Given the description of an element on the screen output the (x, y) to click on. 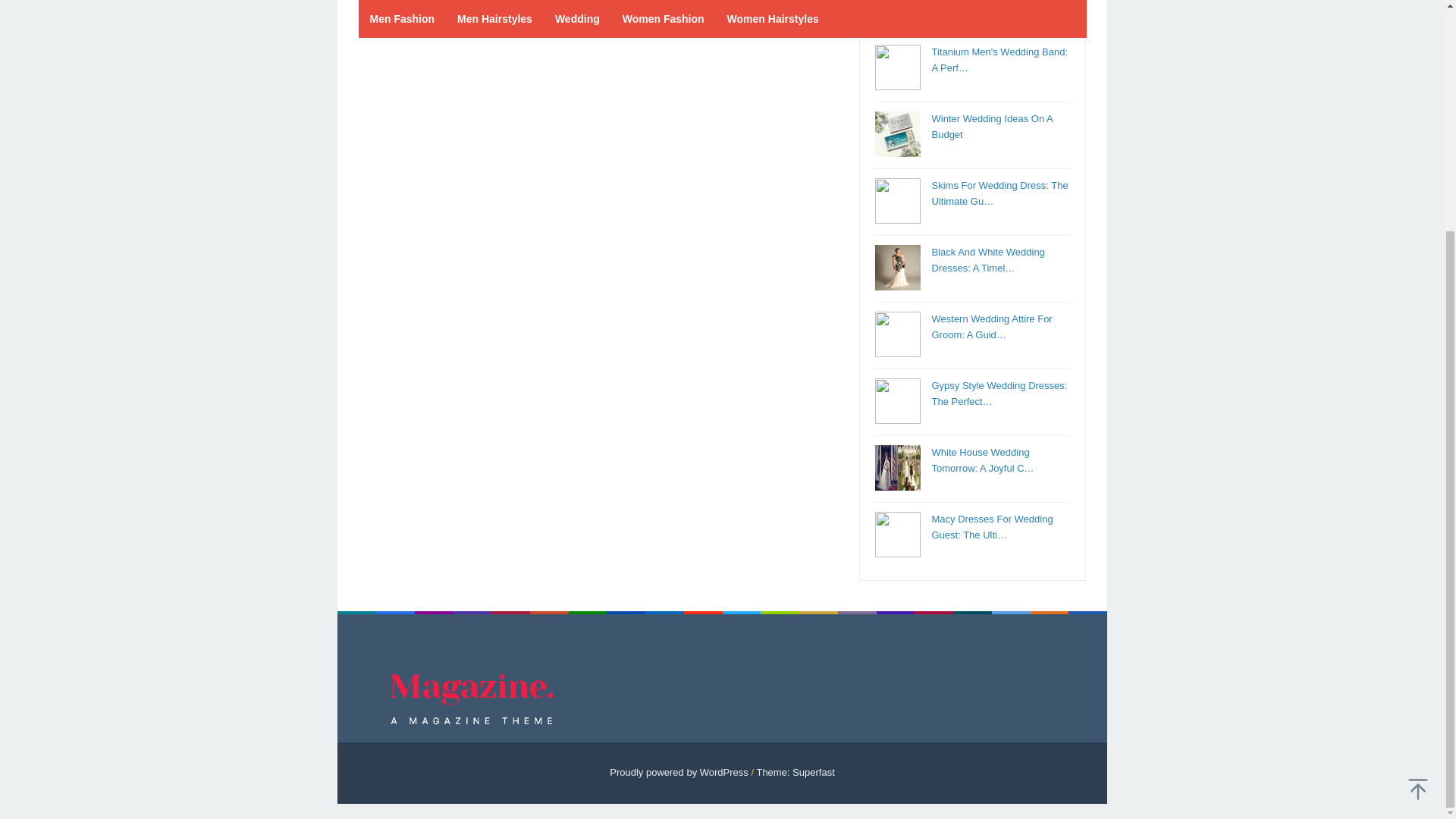
Winter Wedding Ideas On A Budget (991, 126)
Theme: Superfast (794, 772)
Permalink to: Skims For Wedding Dress: The Ultimate Guide (999, 193)
Permalink to: Winter Wedding Ideas On A Budget (991, 126)
Proudly powered by WordPress (679, 772)
